Given the description of an element on the screen output the (x, y) to click on. 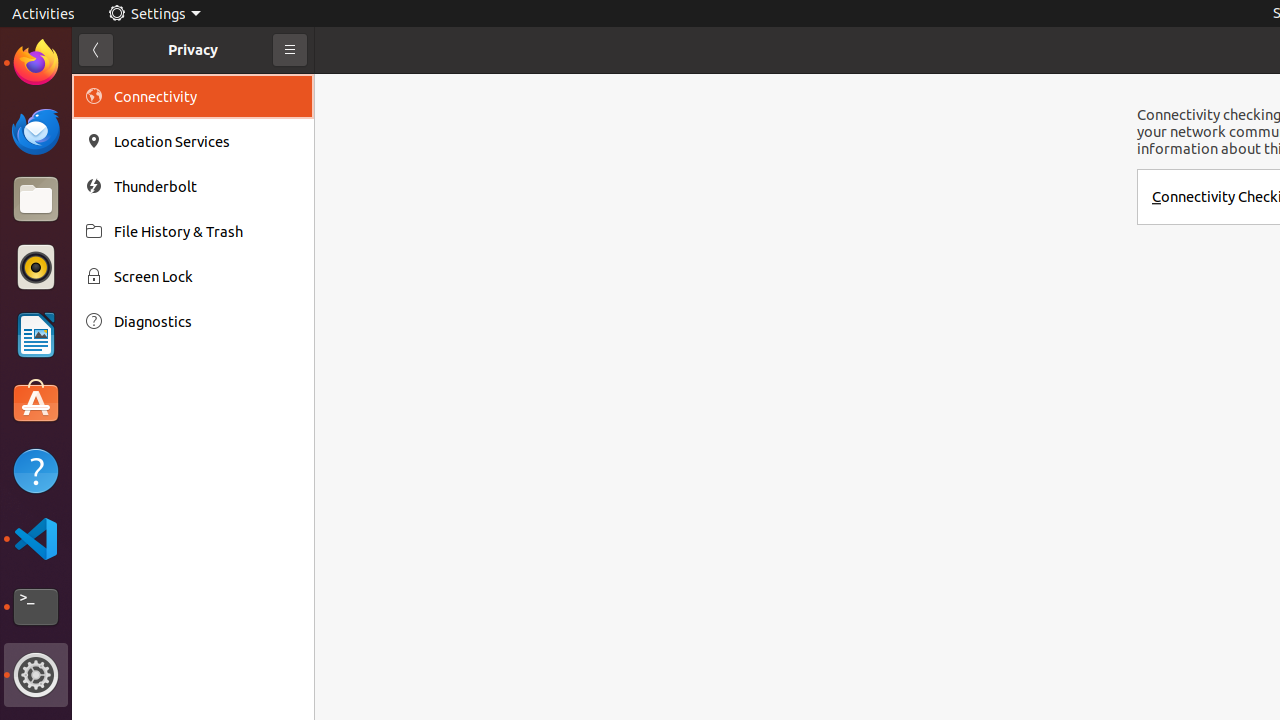
Thunderbolt Element type: label (207, 186)
IsaHelpMain.desktop Element type: label (133, 300)
Privacy Element type: label (193, 49)
Terminal Element type: push-button (36, 607)
Settings Element type: menu (154, 13)
